Given the description of an element on the screen output the (x, y) to click on. 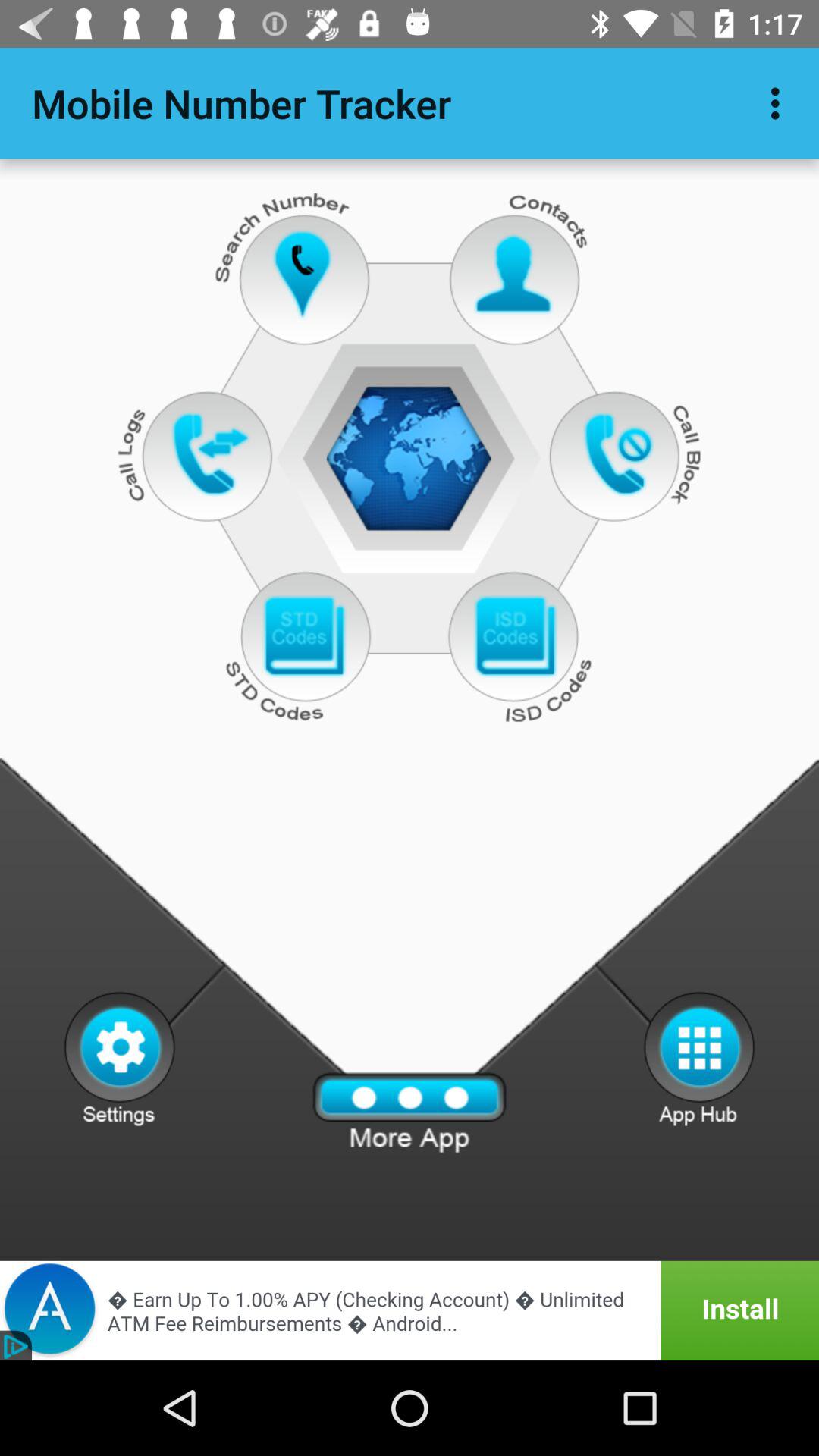
see setting (119, 1057)
